Given the description of an element on the screen output the (x, y) to click on. 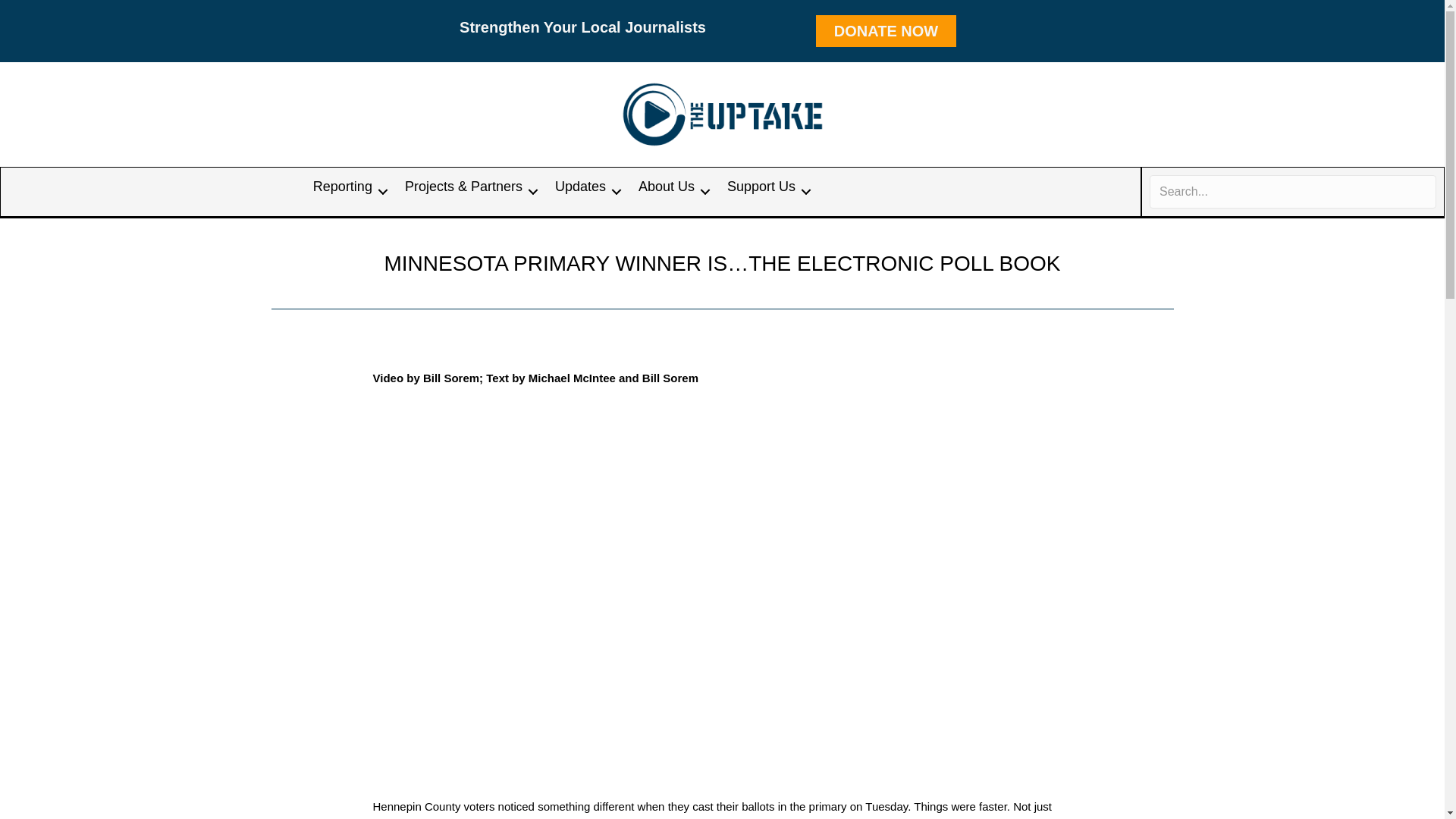
UpTake Logo 7 1 (722, 113)
Support Us (766, 191)
Updates (585, 191)
Reporting (347, 191)
About Us (671, 191)
DONATE NOW (885, 30)
